Given the description of an element on the screen output the (x, y) to click on. 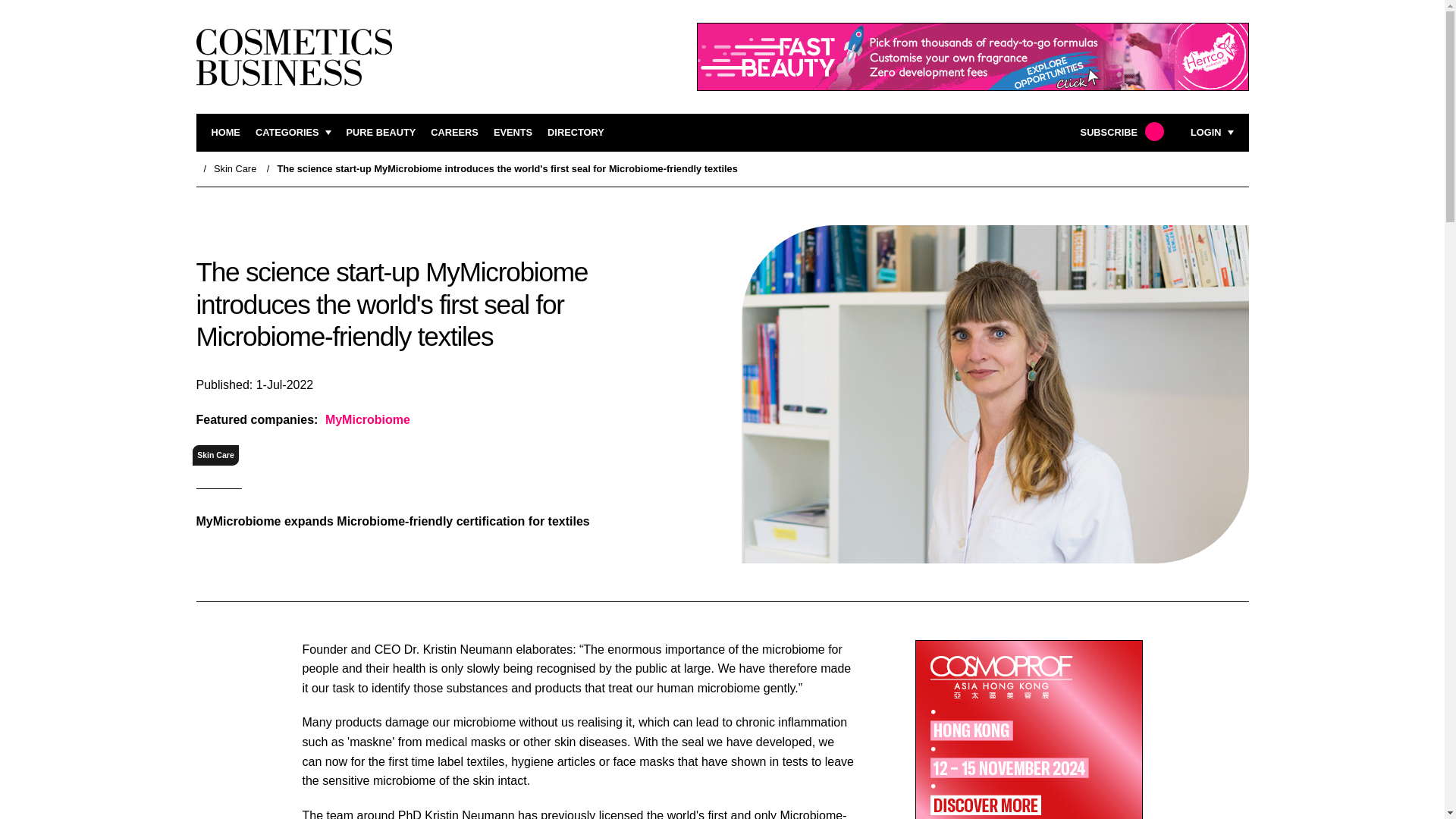
Skin Care (235, 168)
DIRECTORY (575, 133)
Sign In (1134, 321)
CAREERS (454, 133)
MyMicrobiome (365, 419)
HOME (225, 133)
EVENTS (512, 133)
PURE BEAUTY (381, 133)
Skin Care (216, 455)
Directory (575, 133)
LOGIN (1212, 133)
SUBSCRIBE (1120, 133)
Pure Beauty (381, 133)
CATEGORIES (293, 133)
